Given the description of an element on the screen output the (x, y) to click on. 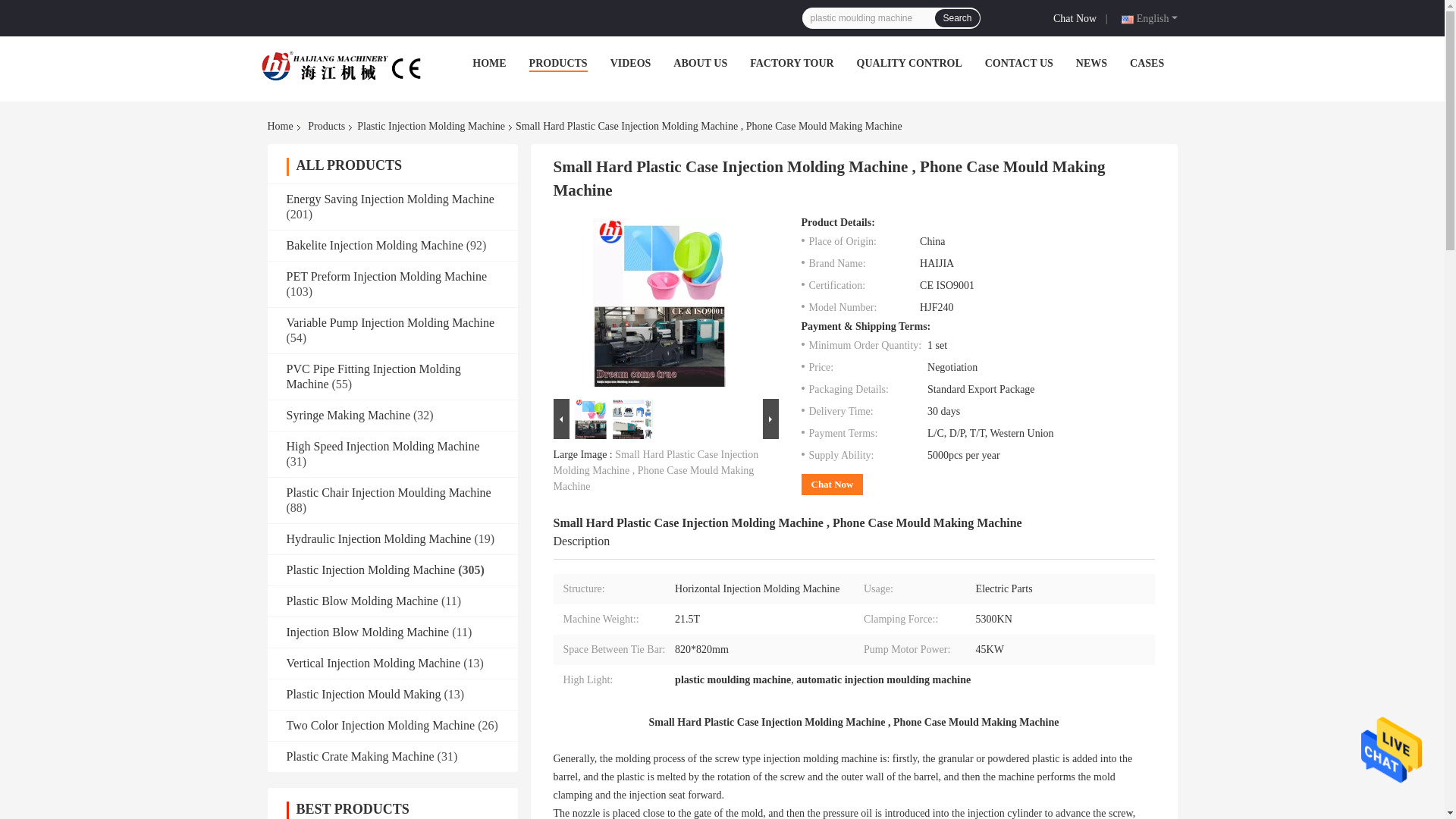
Plastic Injection Molding Machine (430, 126)
Variable Pump Injection Molding Machine (390, 322)
NEWS (1090, 62)
Plastic Blow Molding Machine (362, 600)
Chat Now (1077, 17)
HOME (488, 62)
FACTORY TOUR (790, 62)
PET Preform Injection Molding Machine (386, 276)
High Speed Injection Molding Machine (383, 445)
Hydraulic Injection Molding Machine (378, 538)
